Given the description of an element on the screen output the (x, y) to click on. 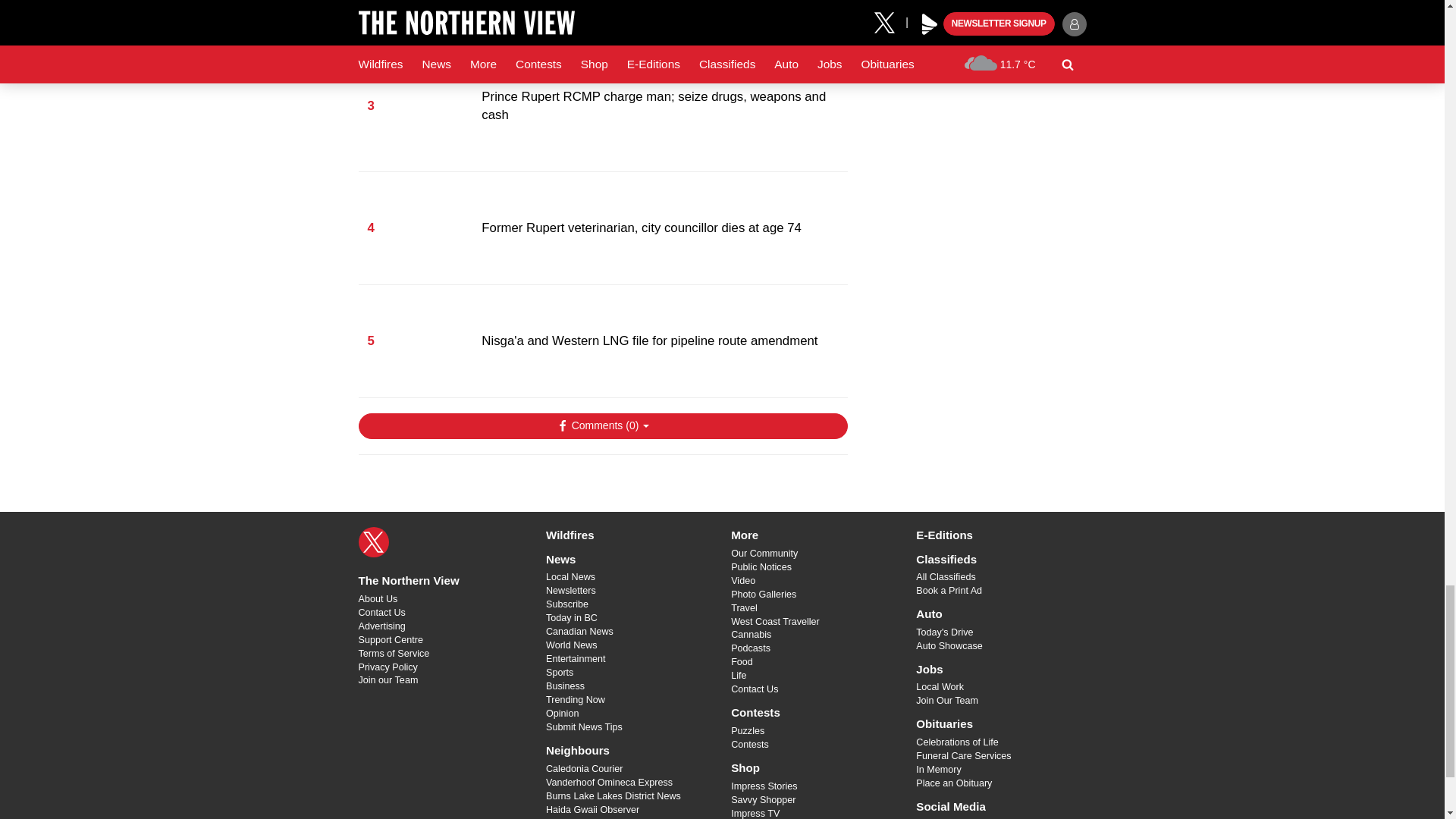
X (373, 542)
Show Comments (602, 425)
